Given the description of an element on the screen output the (x, y) to click on. 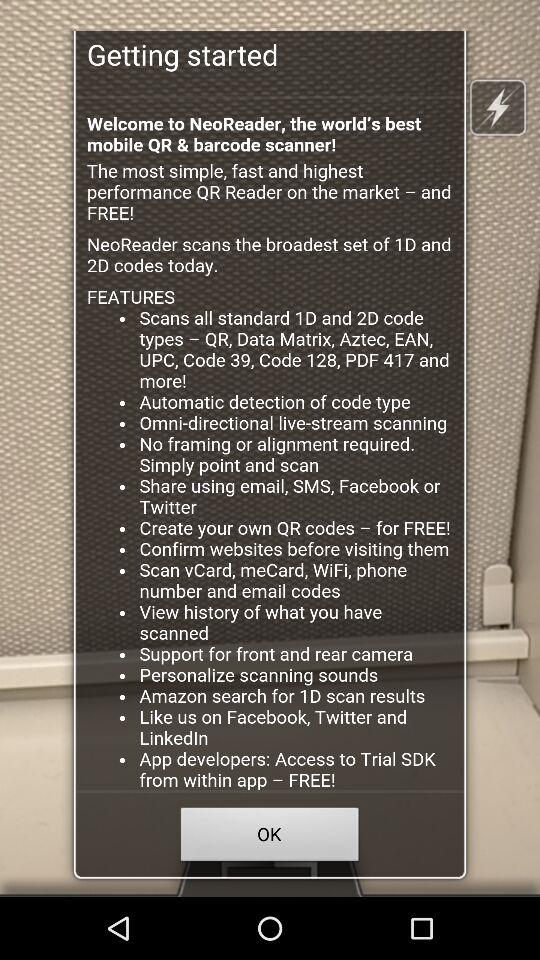
all selected content (269, 444)
